Given the description of an element on the screen output the (x, y) to click on. 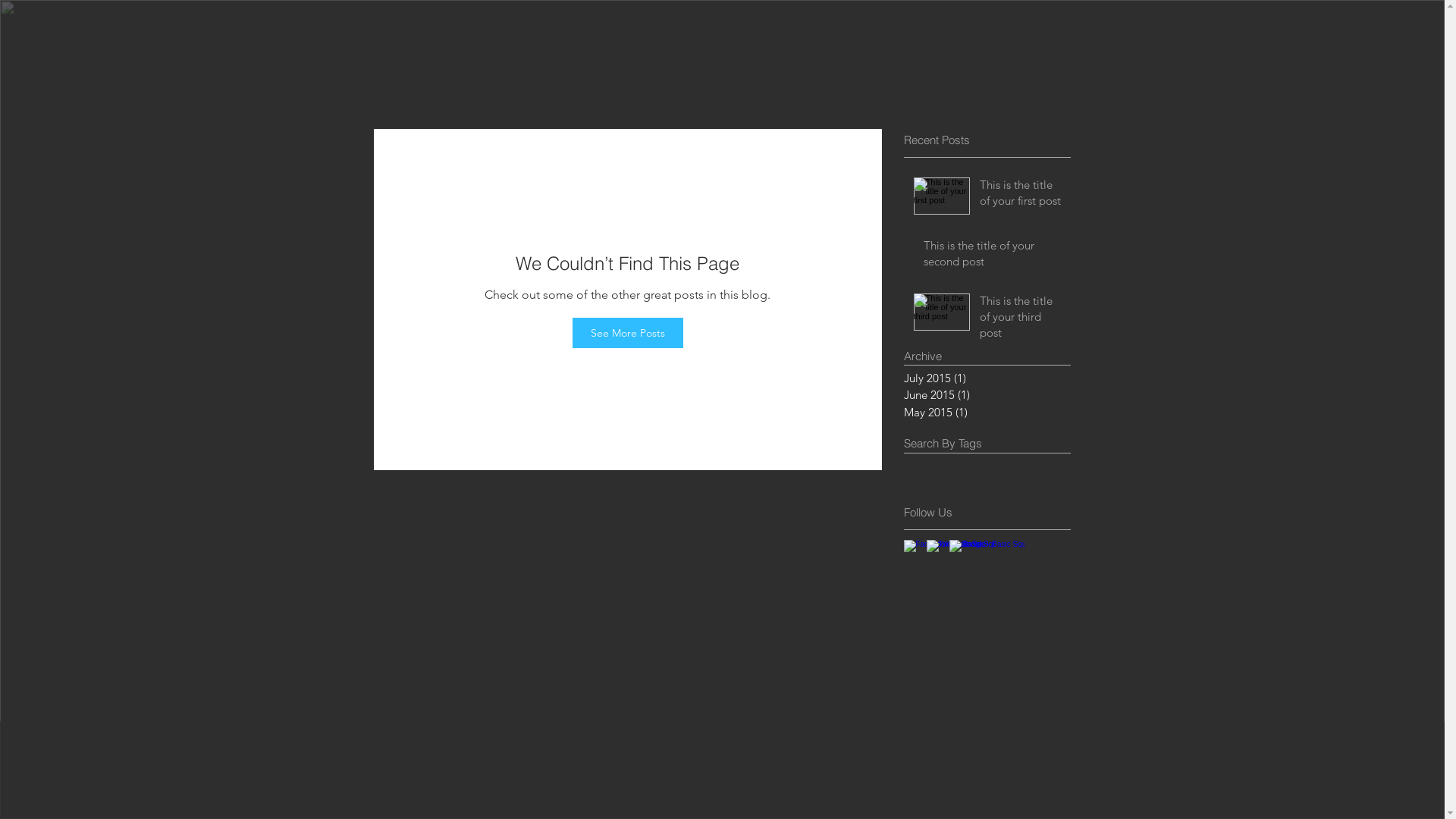
This is the title of your third post Element type: text (1020, 319)
May 2015 (1) Element type: text (983, 412)
This is the title of your first post Element type: text (1020, 195)
See More Posts Element type: text (626, 332)
New York Element type: text (926, 474)
July 2015 (1) Element type: text (983, 378)
Sightseeing Element type: text (986, 474)
Vacation Element type: text (1043, 474)
June 2015 (1) Element type: text (983, 395)
This is the title of your second post Element type: text (992, 256)
